Given the description of an element on the screen output the (x, y) to click on. 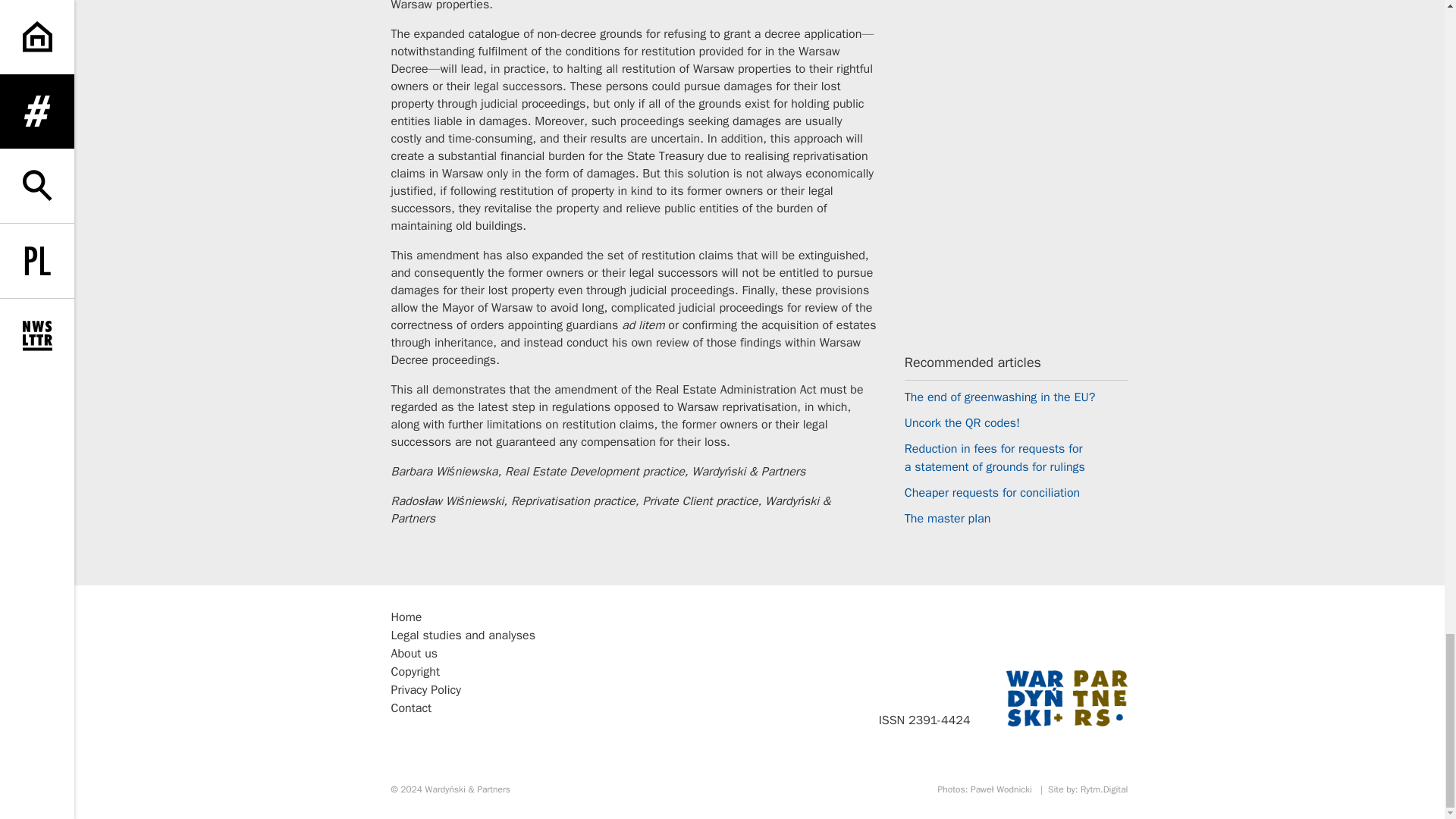
Note, the link will open in a new window (468, 788)
Note, the link will open in a new window (1104, 788)
Note, the link will open in a new window (1066, 697)
Note, the link will open in a new window (1001, 788)
